Given the description of an element on the screen output the (x, y) to click on. 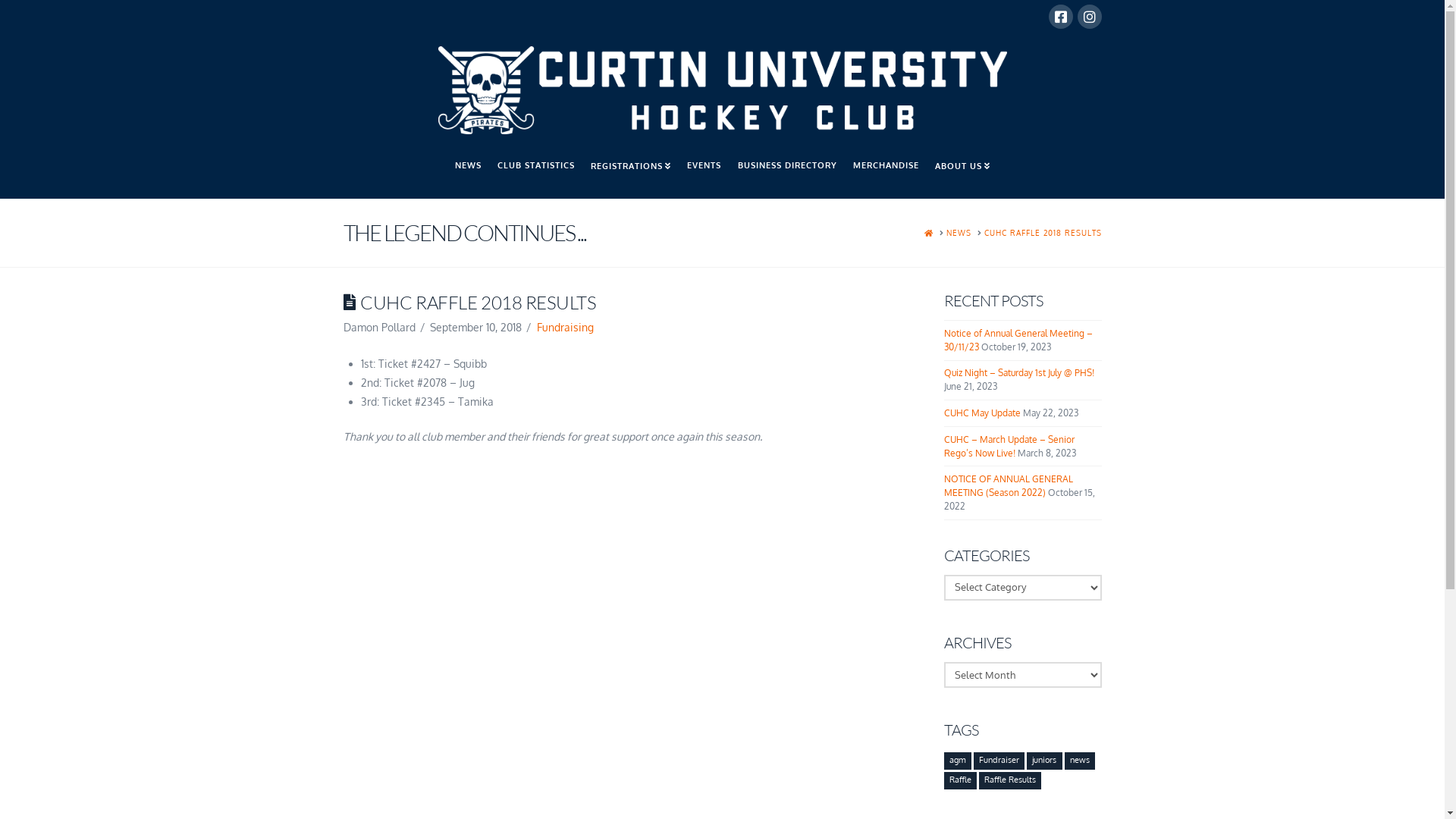
BUSINESS DIRECTORY Element type: text (786, 171)
HOME Element type: text (927, 233)
CUHC RAFFLE 2018 RESULTS Element type: text (1042, 233)
REGISTRATIONS Element type: text (630, 171)
Raffle Element type: text (960, 780)
Fundraiser Element type: text (998, 760)
juniors Element type: text (1043, 760)
Facebook Element type: hover (1060, 16)
Raffle Results Element type: text (1010, 780)
NEWS Element type: text (467, 171)
NOTICE OF ANNUAL GENERAL MEETING (Season 2022) Element type: text (1008, 485)
CLUB STATISTICS Element type: text (535, 171)
news Element type: text (1079, 760)
MERCHANDISE Element type: text (885, 171)
EVENTS Element type: text (703, 171)
CUHC May Update Element type: text (982, 412)
ABOUT US Element type: text (962, 171)
agm Element type: text (957, 760)
Instagram Element type: hover (1088, 16)
NEWS Element type: text (958, 233)
Fundraising Element type: text (564, 326)
